Given the description of an element on the screen output the (x, y) to click on. 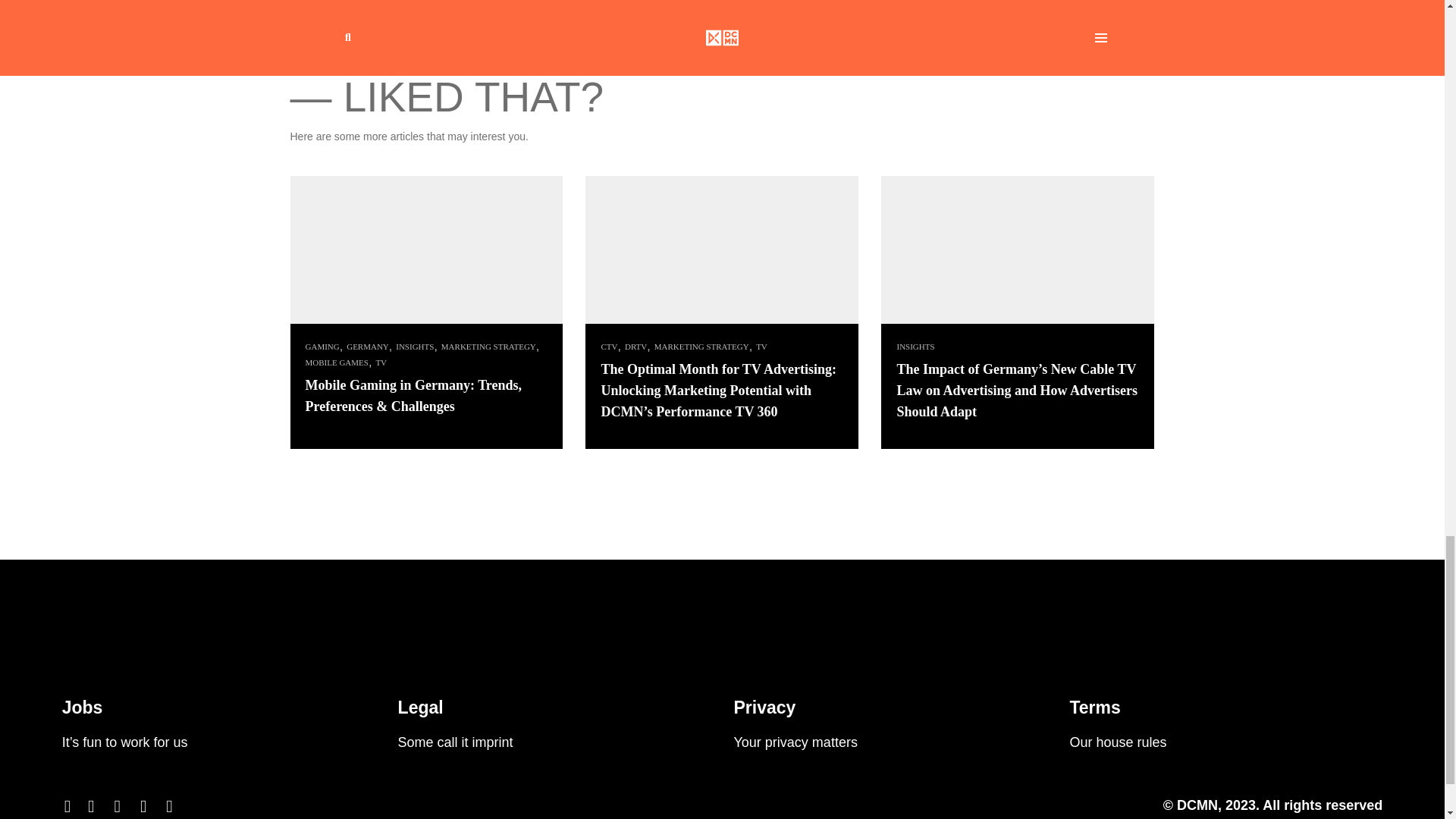
TV (759, 346)
DRTV (633, 346)
MARKETING STRATEGY (699, 346)
GAMING (320, 346)
INSIGHTS (412, 346)
MARKETING STRATEGY (486, 346)
GERMANY (365, 346)
EVENTS (311, 43)
INSIGHTS (913, 346)
TV (379, 362)
